Given the description of an element on the screen output the (x, y) to click on. 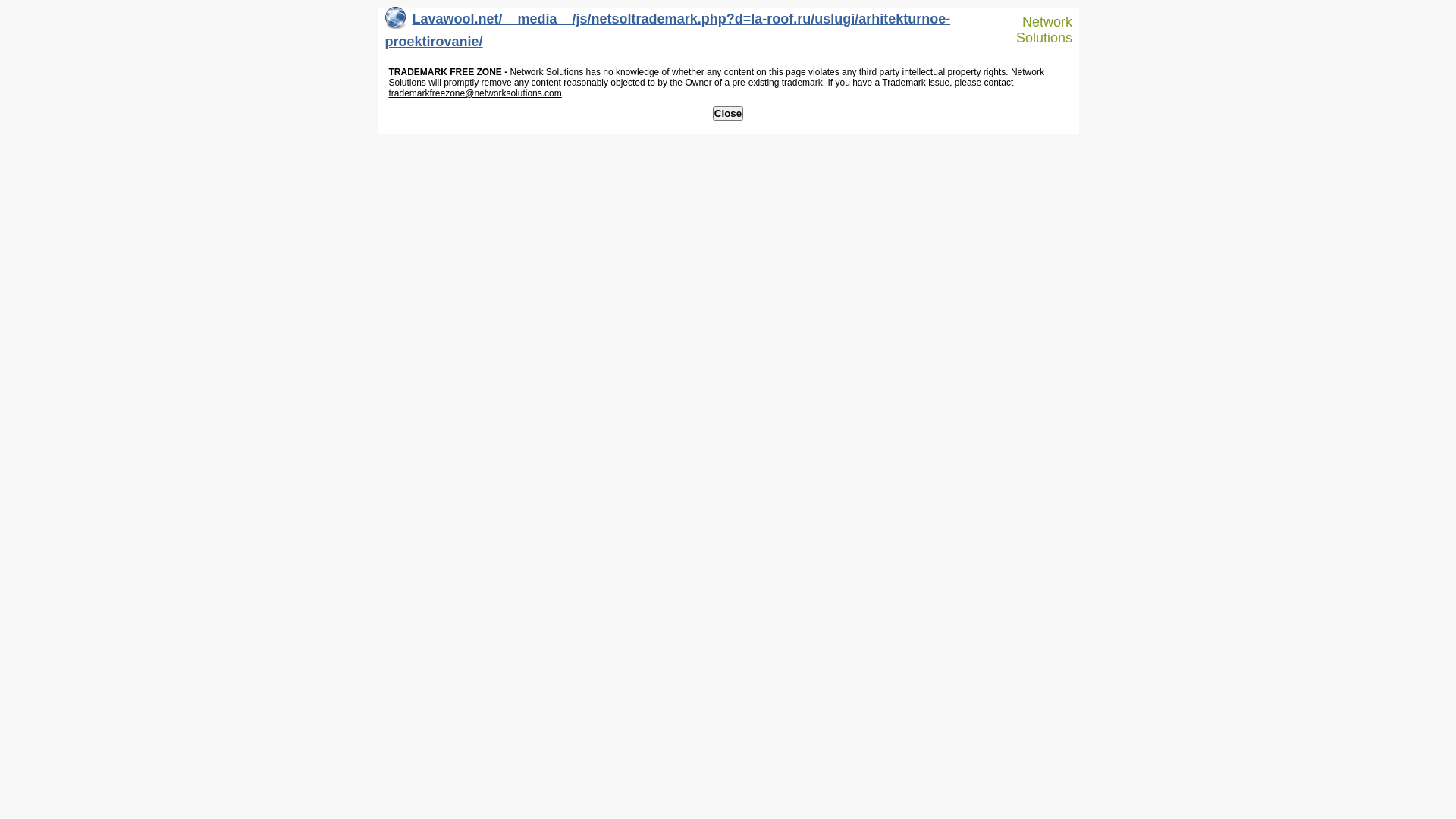
Close Element type: text (727, 113)
trademarkfreezone@networksolutions.com Element type: text (474, 92)
Network Solutions Element type: text (1037, 29)
